Given the description of an element on the screen output the (x, y) to click on. 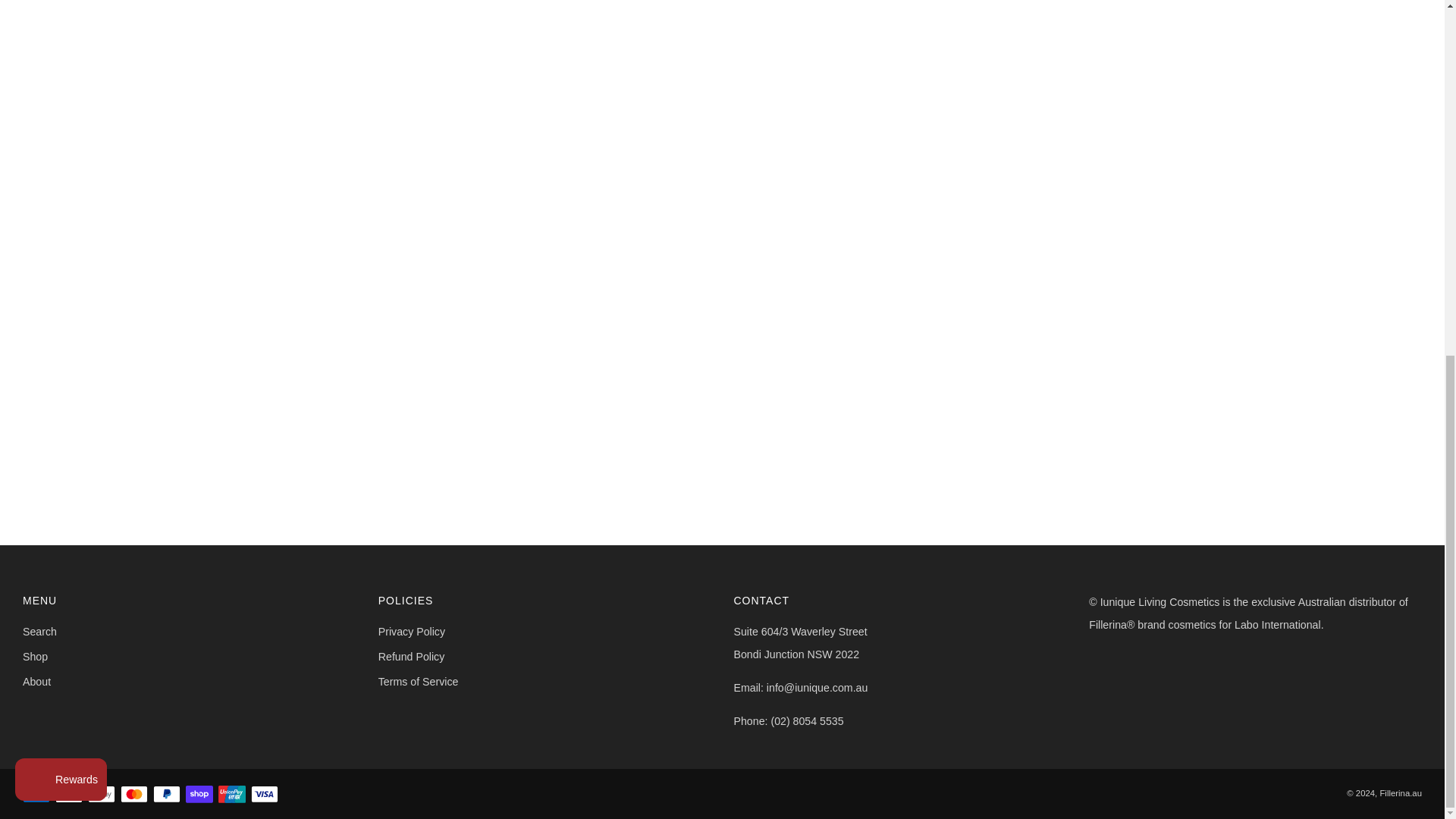
Apple Pay (68, 794)
American Express (36, 794)
PayPal (166, 794)
Google Pay (101, 794)
Search (39, 631)
Union Pay (232, 794)
Shop Pay (199, 794)
Visa (264, 794)
Mastercard (134, 794)
